Given the description of an element on the screen output the (x, y) to click on. 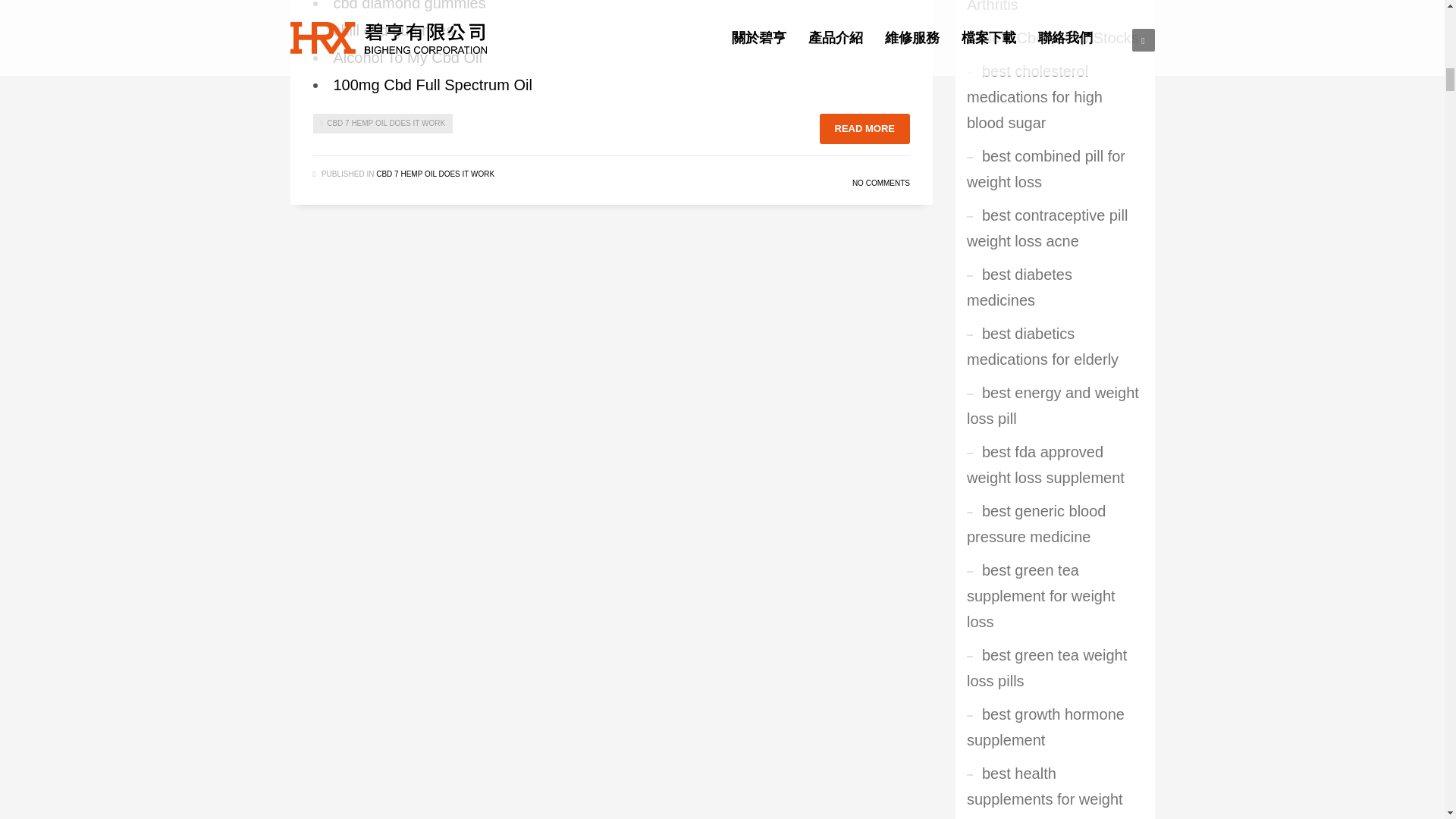
100mg Cbd Full Spectrum Oil (432, 84)
Alcohol To My Cbd Oil (407, 57)
cbd diamond gummies (409, 5)
NO COMMENTS (880, 183)
CBD 7 HEMP OIL DOES IT WORK (382, 123)
READ MORE (864, 128)
CBD 7 HEMP OIL DOES IT WORK (435, 173)
chill cbd gummies (393, 30)
